Given the description of an element on the screen output the (x, y) to click on. 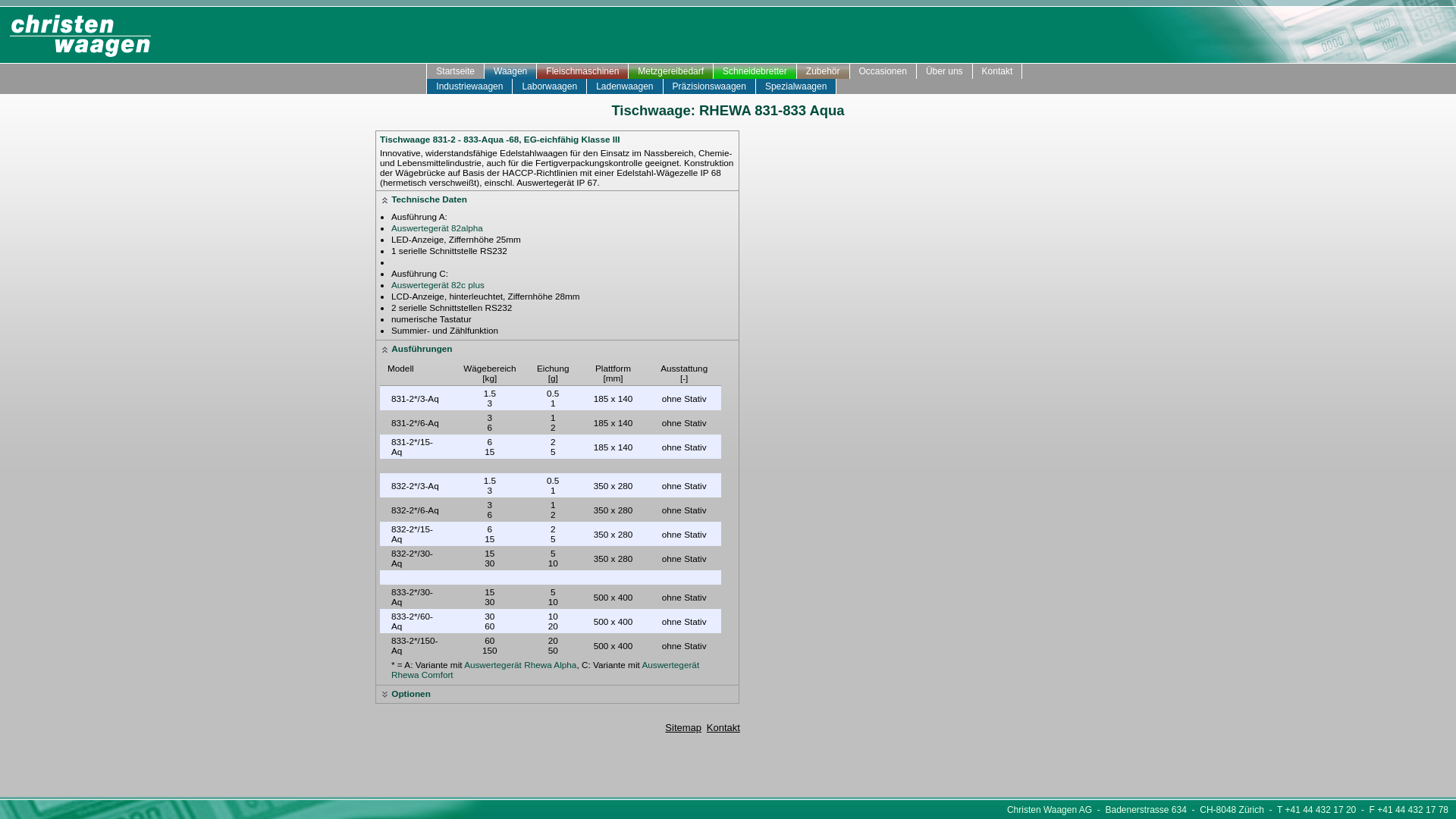
Laborwaagen Element type: text (549, 86)
  -  T +41 44 432 17 20  -  F +41 44 432 17 78 Element type: text (1356, 809)
  Element type: text (415, 70)
Industriewaagen Element type: text (469, 86)
Waagen Element type: text (510, 70)
Kontakt Element type: text (997, 70)
Startseite Element type: text (455, 70)
Kontakt Element type: text (723, 727)
Spezialwaagen Element type: text (796, 86)
Occasionen Element type: text (882, 70)
  Element type: text (415, 86)
Optionen Element type: text (410, 693)
Sitemap Element type: text (683, 727)
Fleischmaschinen Element type: text (582, 70)
Ladenwaagen Element type: text (624, 86)
Technische Daten Element type: text (429, 198)
Metzgereibedarf Element type: text (670, 70)
Schneidebretter Element type: text (755, 70)
